Given the description of an element on the screen output the (x, y) to click on. 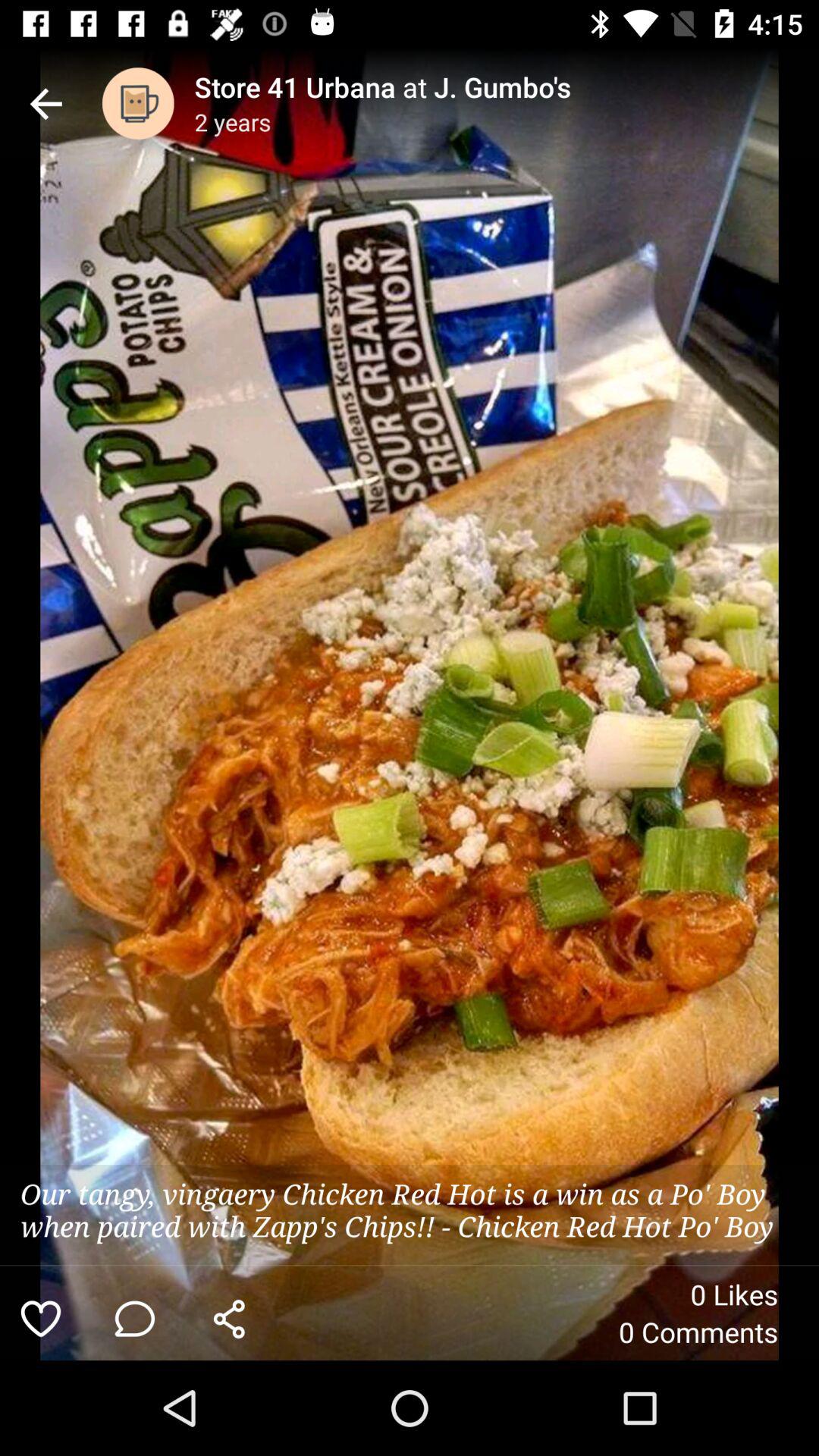
turn on item above 2 years item (506, 86)
